Given the description of an element on the screen output the (x, y) to click on. 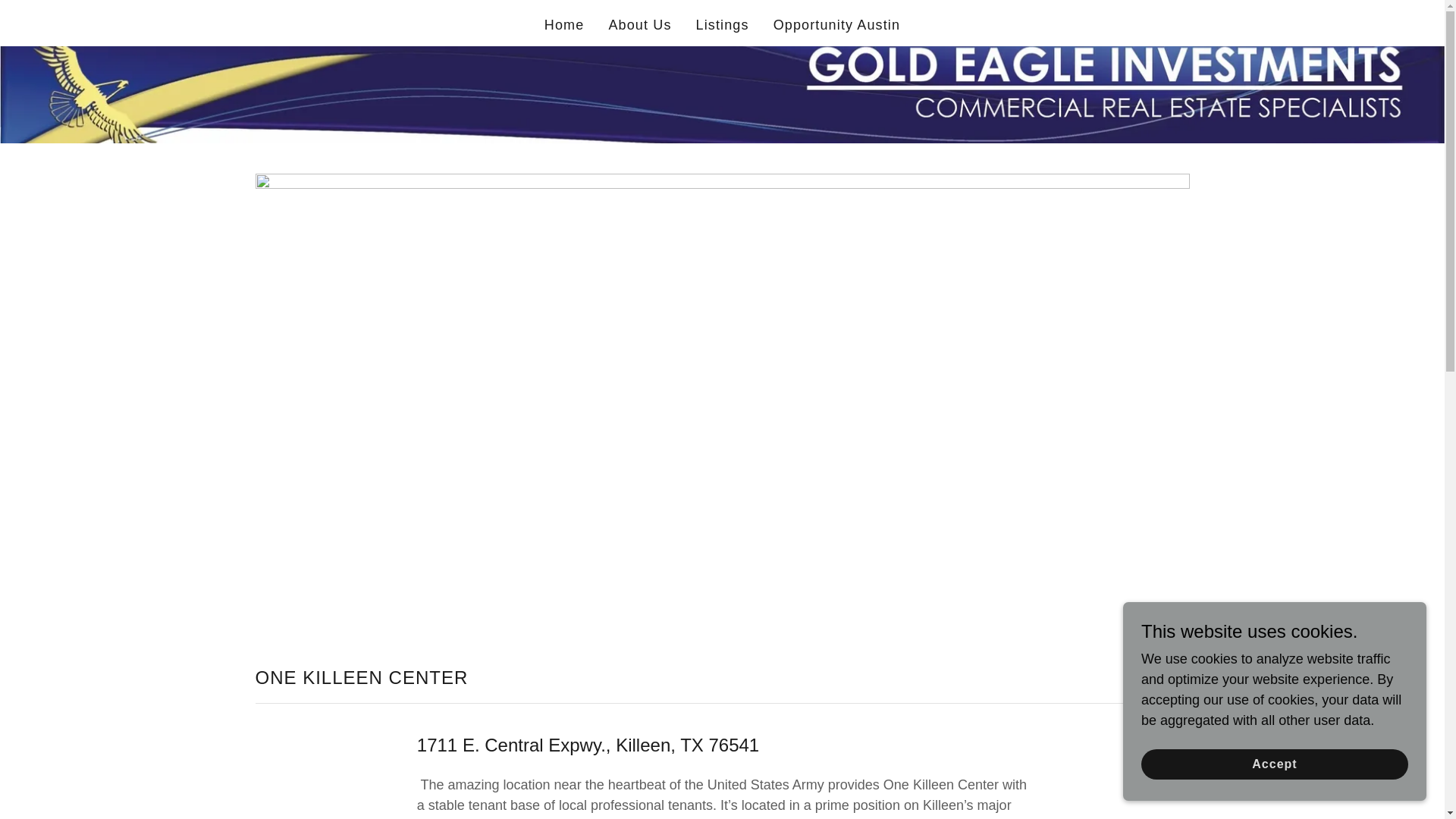
Opportunity Austin (836, 24)
Accept (1274, 764)
About Us (639, 24)
Listings (722, 24)
Home (564, 24)
